Given the description of an element on the screen output the (x, y) to click on. 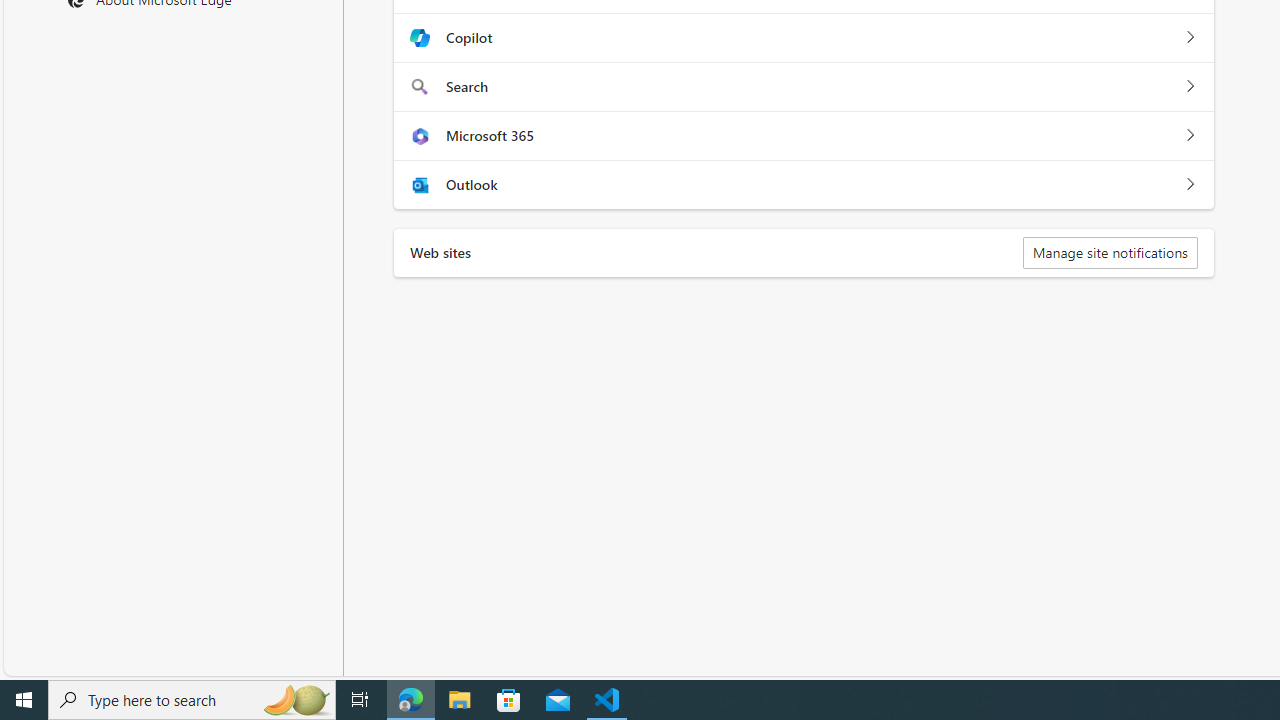
Manage site notifications (1109, 252)
Copilot (1190, 38)
